Given the description of an element on the screen output the (x, y) to click on. 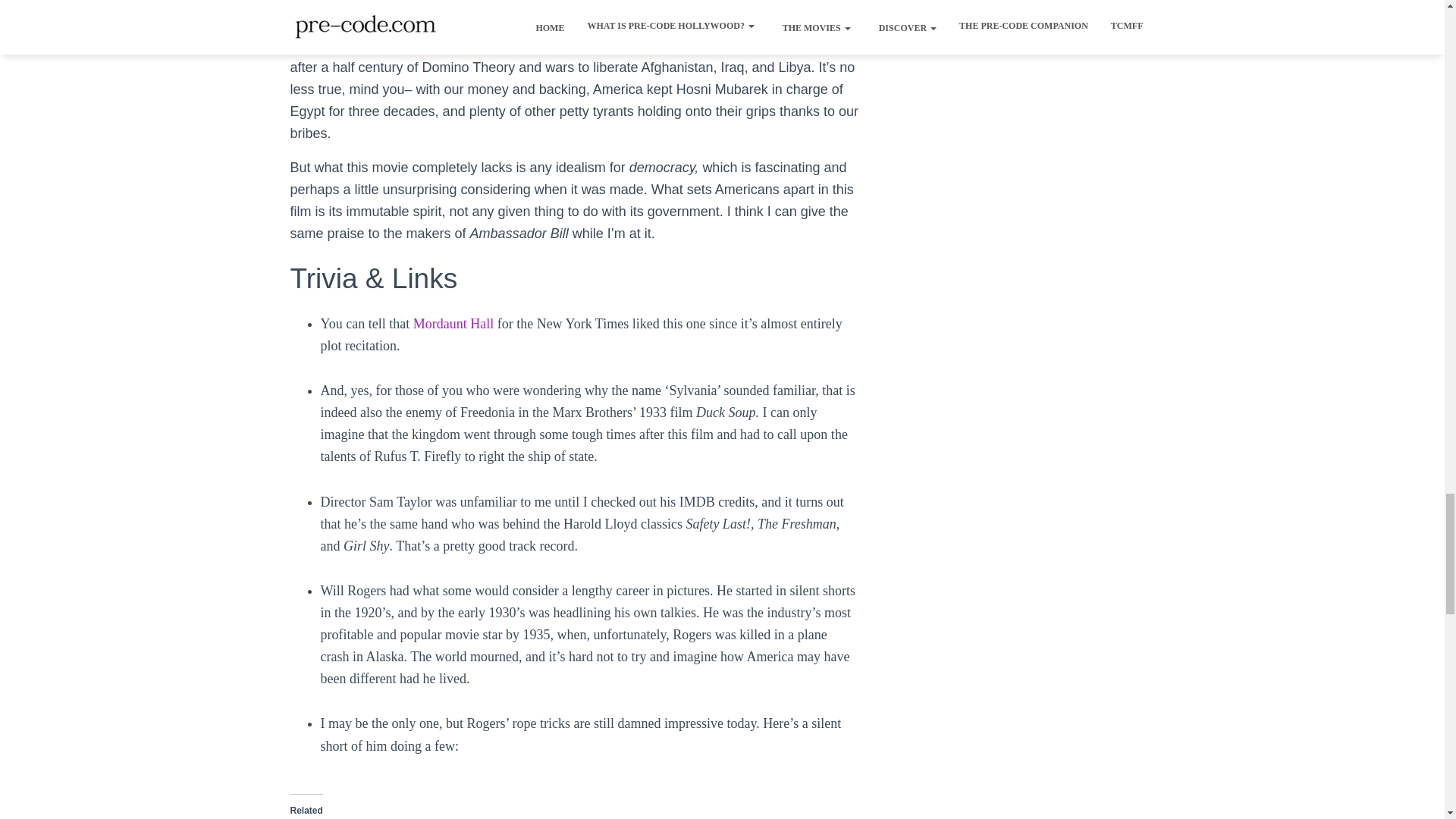
Mordaunt Hall (453, 323)
